Given the description of an element on the screen output the (x, y) to click on. 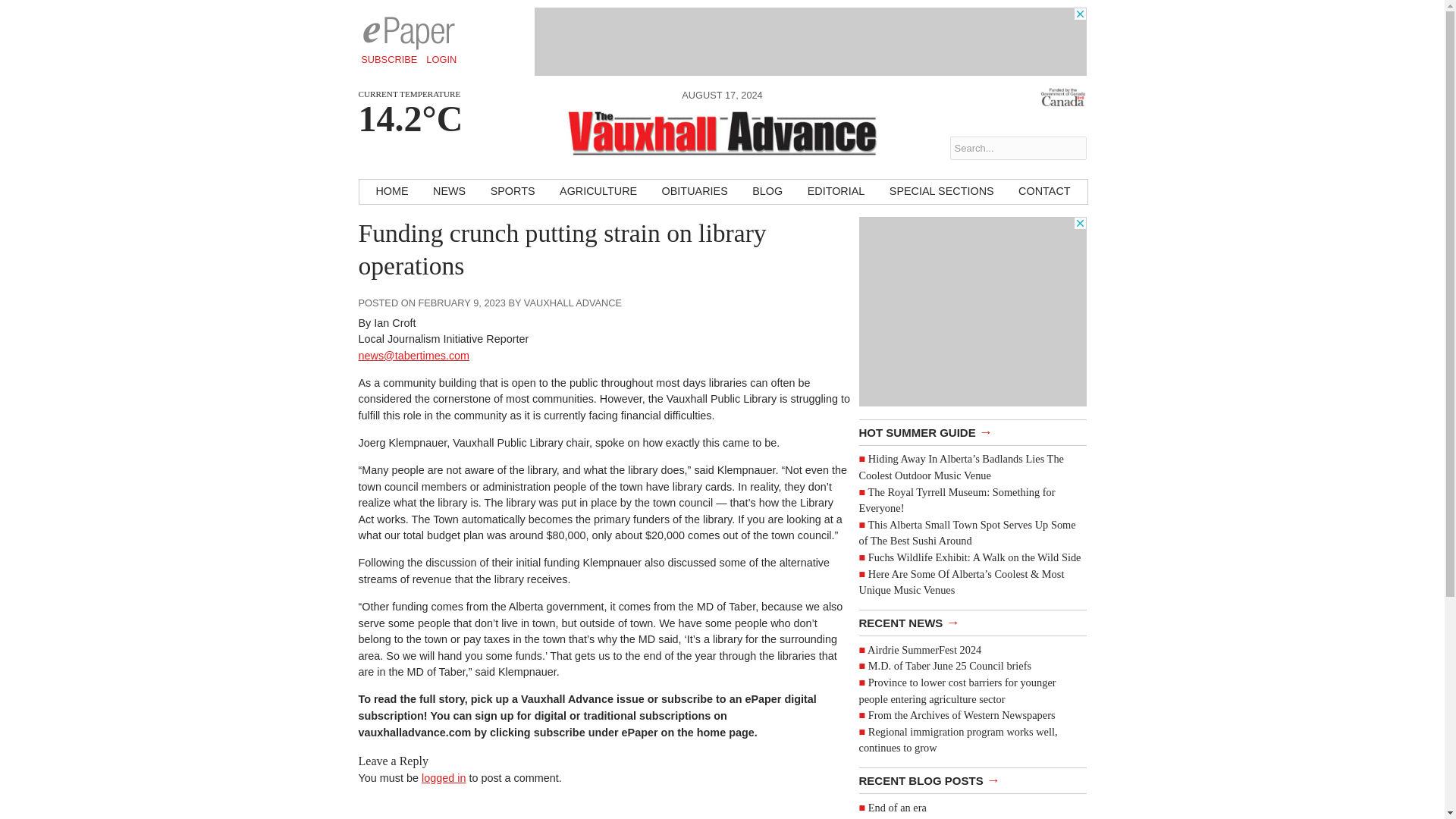
HOME (392, 191)
CONTACT (1043, 191)
Airdrie SummerFest 2024 (924, 649)
SUBSCRIBE (389, 58)
SPORTS (513, 191)
OBITUARIES (694, 191)
Regional immigration program works well, continues to grow (958, 739)
The Royal Tyrrell Museum: Something for Everyone! (956, 500)
